Given the description of an element on the screen output the (x, y) to click on. 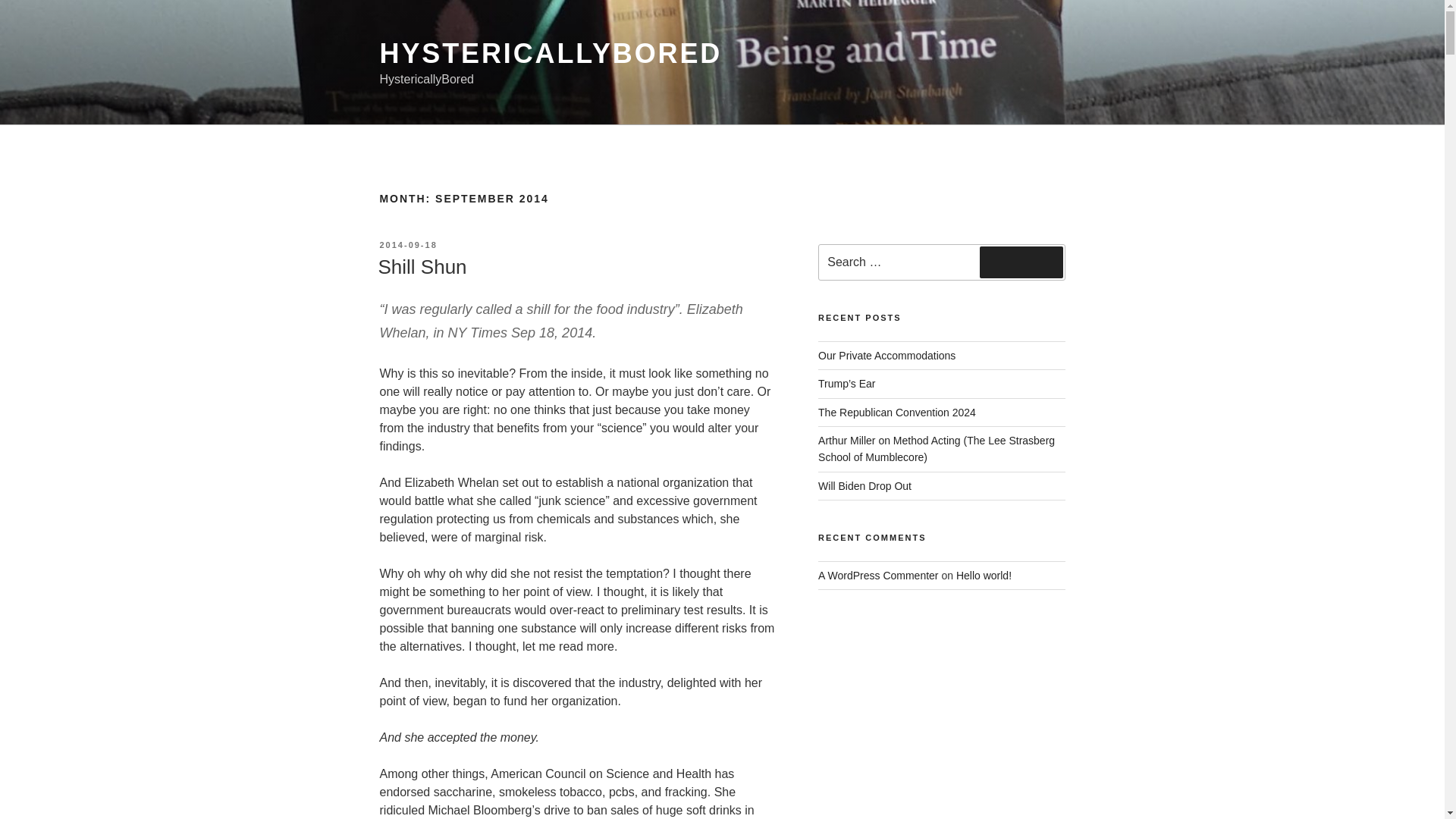
Will Biden Drop Out (864, 485)
Hello world! (983, 575)
A WordPress Commenter (877, 575)
The Republican Convention 2024 (896, 412)
Shill Shun (421, 266)
HYSTERICALLYBORED (550, 52)
2014-09-18 (407, 244)
Search (1020, 262)
Our Private Accommodations (886, 355)
